Given the description of an element on the screen output the (x, y) to click on. 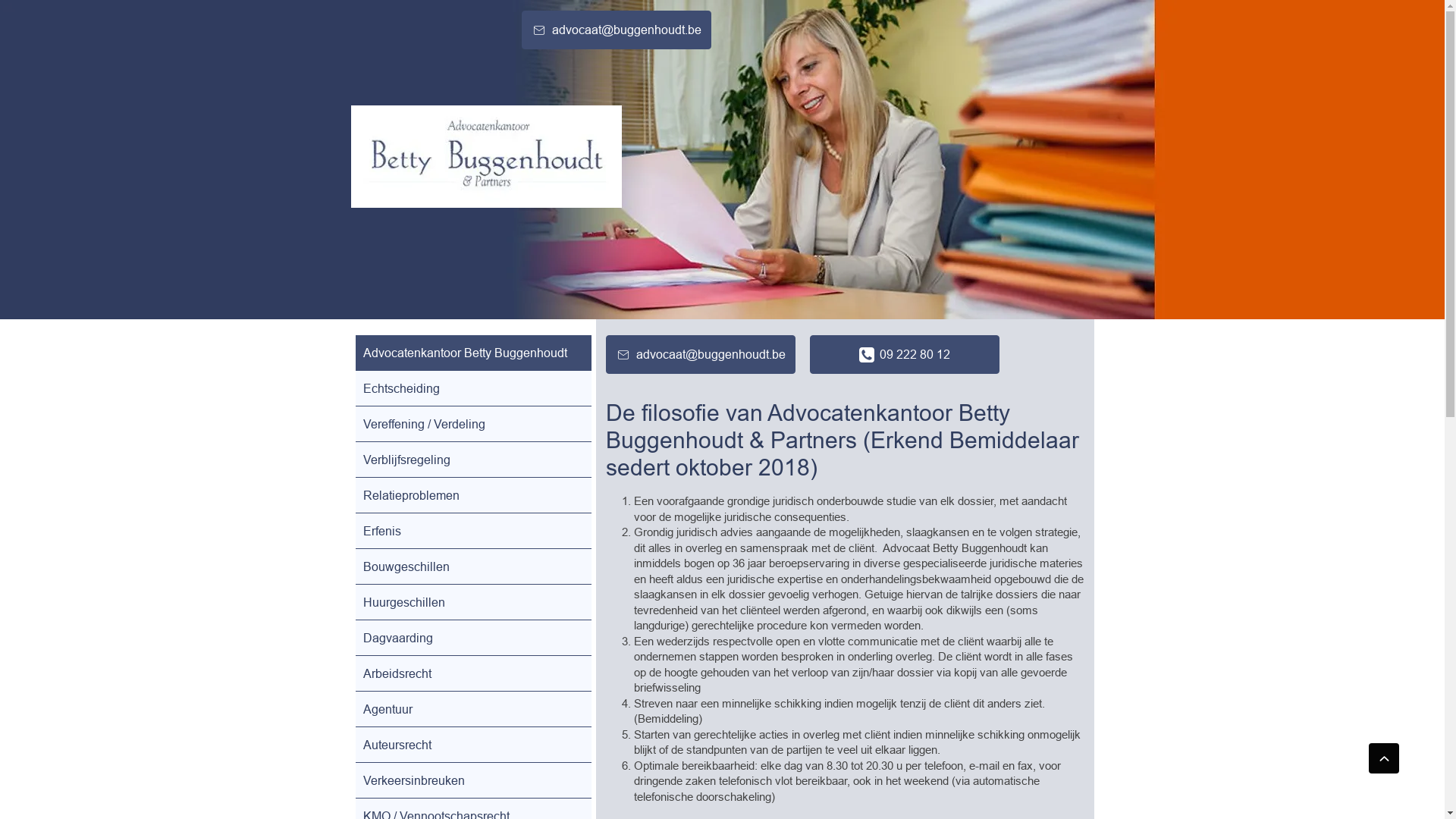
ADVOCATENKANTOOR BETTY BUGGENHOUDT Element type: hover (485, 156)
Dagvaarding Element type: text (472, 637)
Arbeidsrecht Element type: text (472, 672)
Auteursrecht Element type: text (472, 744)
advocaat@buggenhoudt.be Element type: text (699, 354)
Verblijfsregeling Element type: text (472, 459)
advocaat@buggenhoudt.be Element type: text (616, 29)
Huurgeschillen Element type: text (472, 601)
Verkeersinbreuken Element type: text (472, 779)
Relatieproblemen Element type: text (472, 494)
Vereffening / Verdeling Element type: text (472, 423)
Agentuur Element type: text (472, 708)
09 222 80 12 Element type: text (904, 354)
Bouwgeschillen Element type: text (472, 566)
Echtscheiding Element type: text (472, 387)
Erfenis Element type: text (472, 530)
Advocatenkantoor Betty Buggenhoudt Element type: text (472, 352)
